Given the description of an element on the screen output the (x, y) to click on. 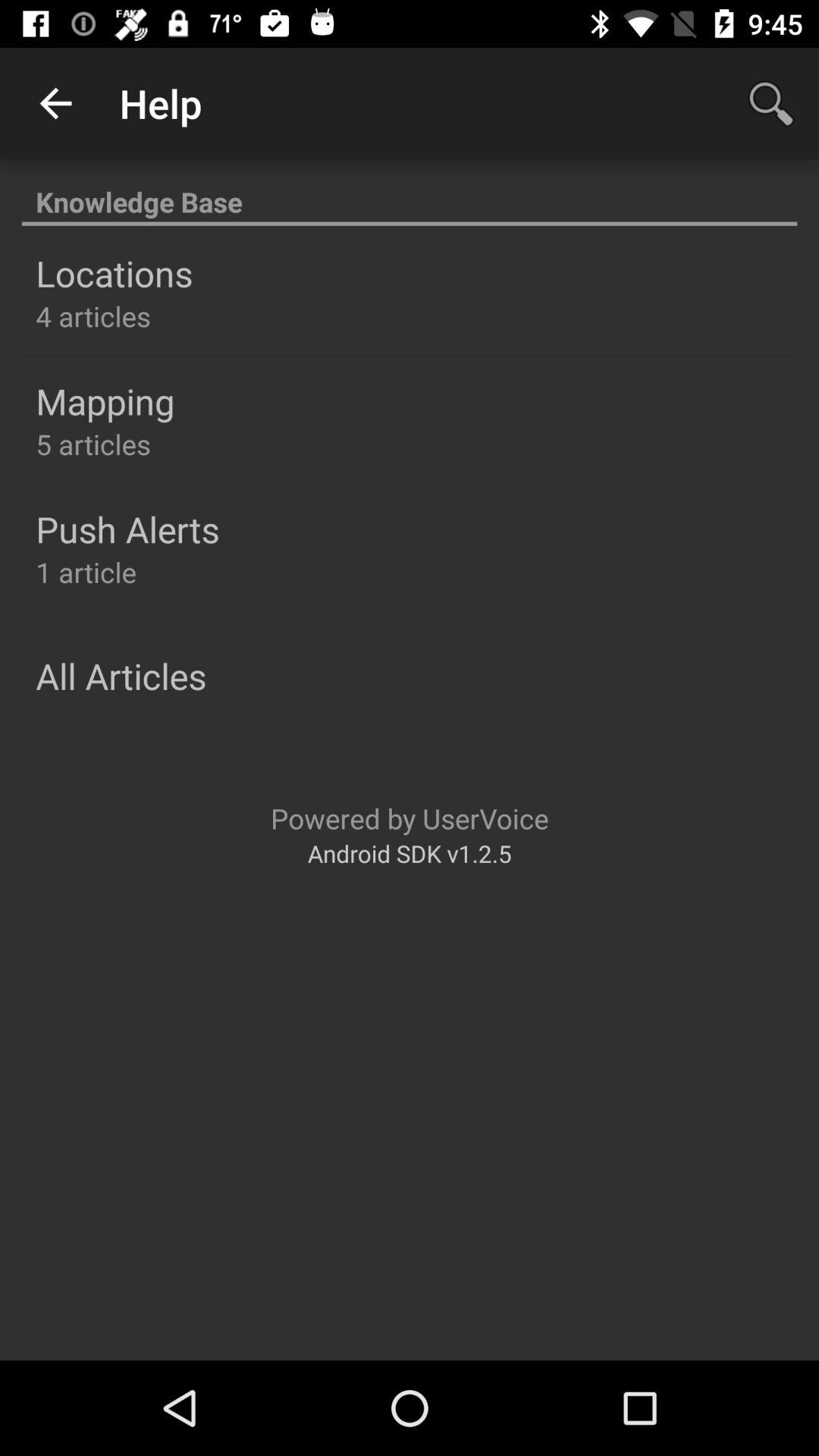
launch icon above 4 articles icon (113, 273)
